Given the description of an element on the screen output the (x, y) to click on. 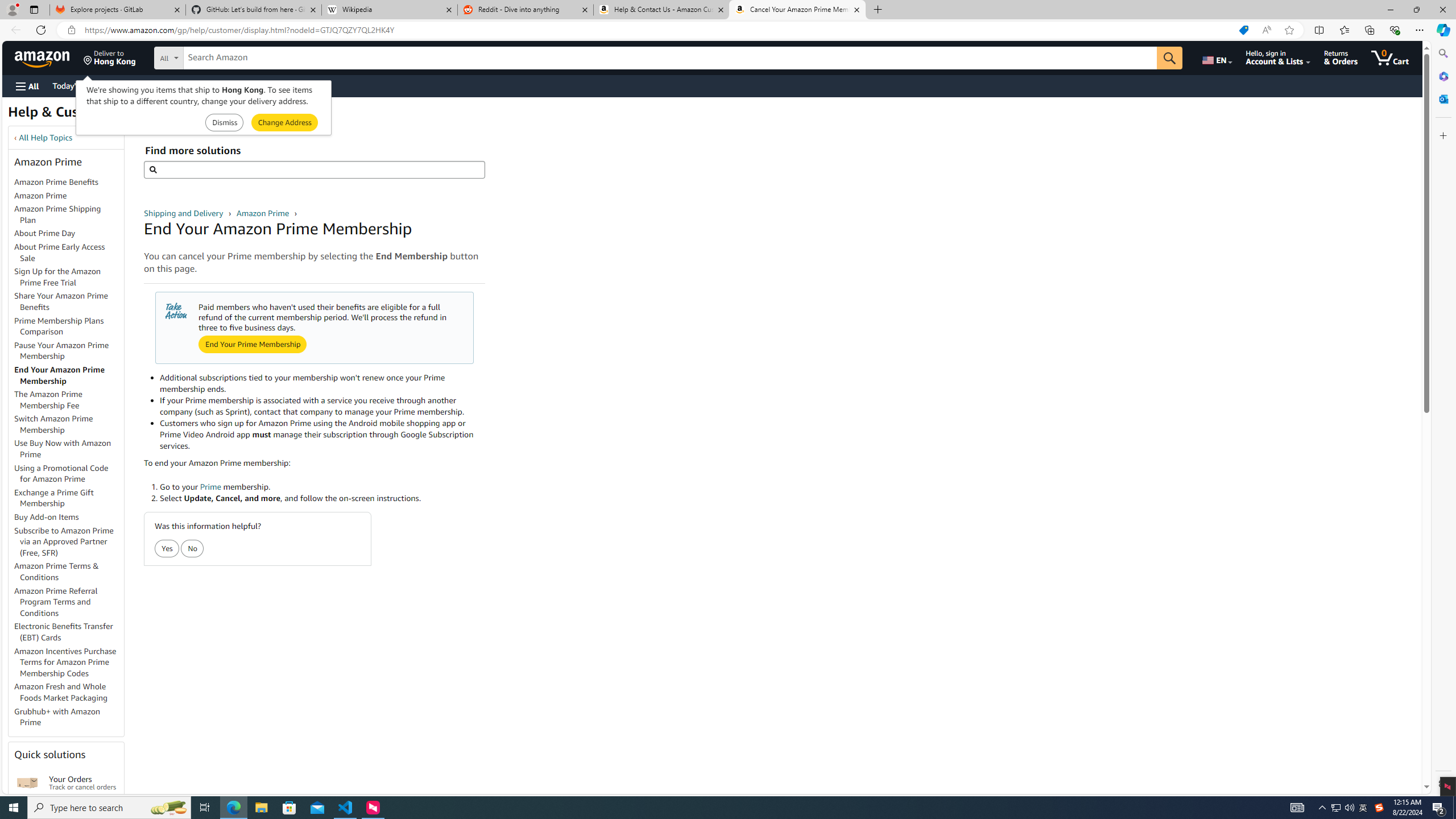
End Your Prime Membership (252, 343)
About Prime Day (68, 233)
Amazon Prime Terms & Conditions (68, 572)
Choose a language for shopping. (1216, 57)
Help & Contact Us - Amazon Customer Service (660, 9)
Grubhub+ with Amazon Prime (57, 716)
Pause Your Amazon Prime Membership (68, 350)
Share Your Amazon Prime Benefits (61, 301)
Sign Up for the Amazon Prime Free Trial (57, 276)
Prime Membership Plans Comparison (68, 326)
Prime Membership Plans Comparison (58, 326)
